Given the description of an element on the screen output the (x, y) to click on. 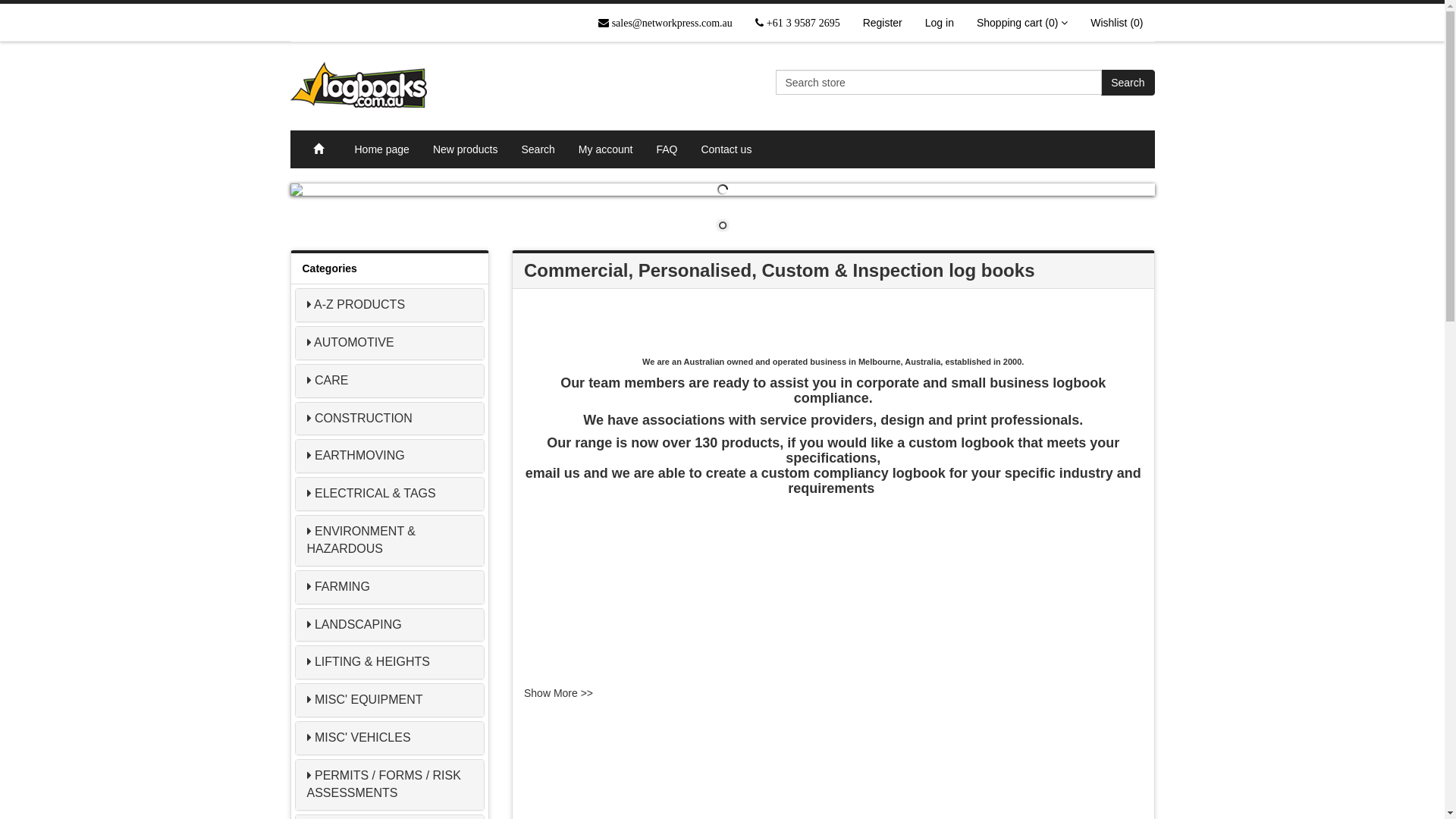
LIFTING & HEIGHTS Element type: text (371, 661)
New products Element type: text (465, 149)
MISC' EQUIPMENT Element type: text (368, 699)
FAQ Element type: text (666, 149)
LANDSCAPING Element type: text (357, 624)
+61 3 9587 2695 Element type: text (797, 22)
Shopping cart (0) Element type: text (1022, 22)
My account Element type: text (606, 149)
Register Element type: text (882, 22)
ELECTRICAL & TAGS Element type: text (375, 492)
Home page Element type: text (381, 149)
Search Element type: text (537, 149)
ENVIRONMENT & HAZARDOUS Element type: text (360, 539)
A-Z PRODUCTS Element type: text (358, 304)
sales@networkpress.com.au Element type: text (664, 22)
Search Element type: text (1127, 82)
1 Element type: text (722, 226)
FARMING Element type: text (342, 586)
Contact us Element type: text (726, 149)
Wishlist (0) Element type: text (1116, 22)
  Element type: text (406, 84)
CARE Element type: text (331, 379)
MISC' VEHICLES Element type: text (362, 737)
AUTOMOTIVE Element type: text (353, 341)
EARTHMOVING Element type: text (359, 454)
Log in Element type: text (939, 22)
CONSTRUCTION Element type: text (363, 417)
PERMITS / FORMS / RISK ASSESSMENTS Element type: text (383, 783)
